Given the description of an element on the screen output the (x, y) to click on. 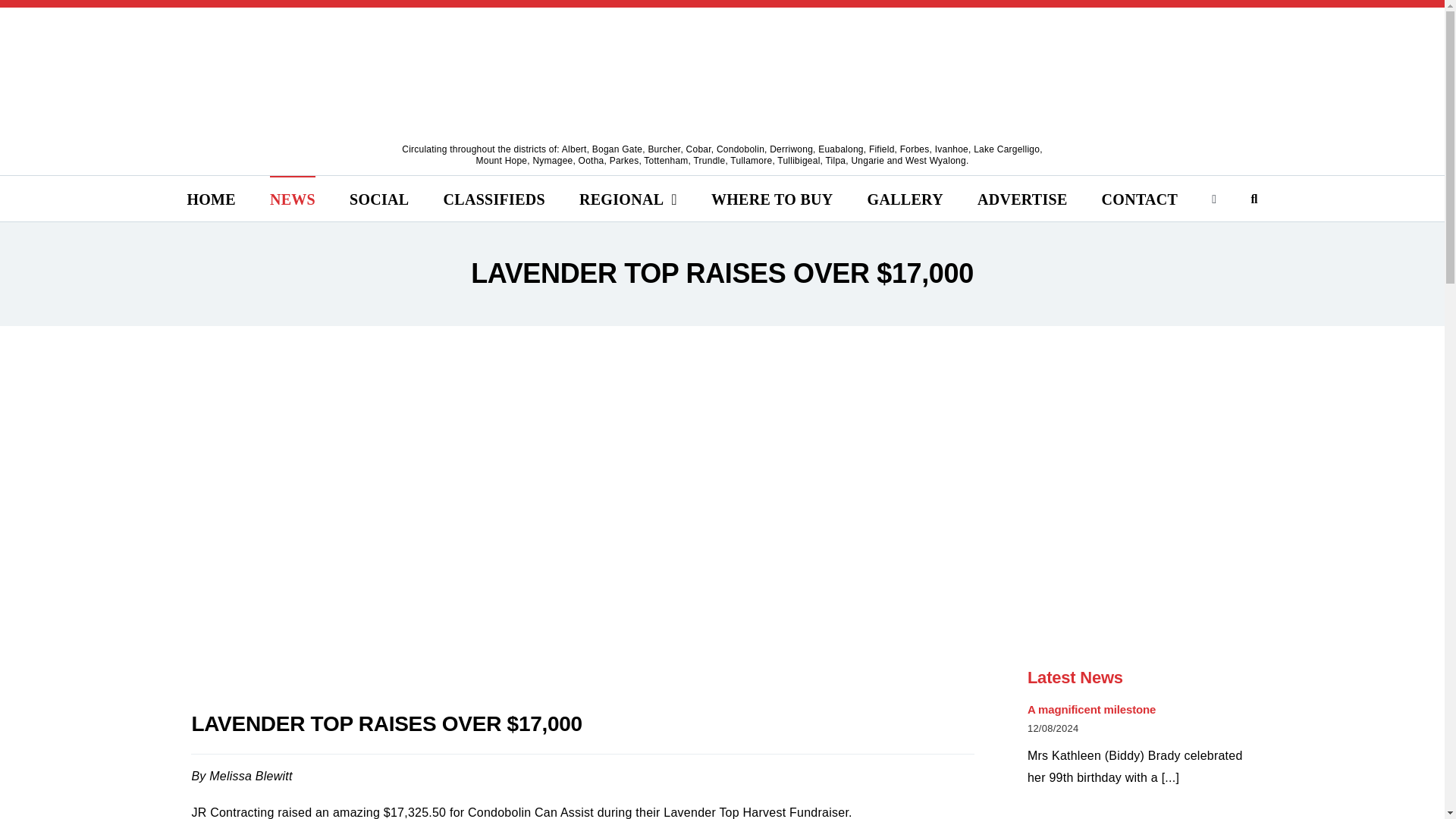
SOCIAL (379, 198)
GALLERY (905, 198)
NEWS (292, 198)
REGIONAL (628, 198)
WHERE TO BUY (771, 198)
HOME (210, 198)
CLASSIFIEDS (494, 198)
ADVERTISE (1021, 198)
CONTACT (1139, 198)
